Given the description of an element on the screen output the (x, y) to click on. 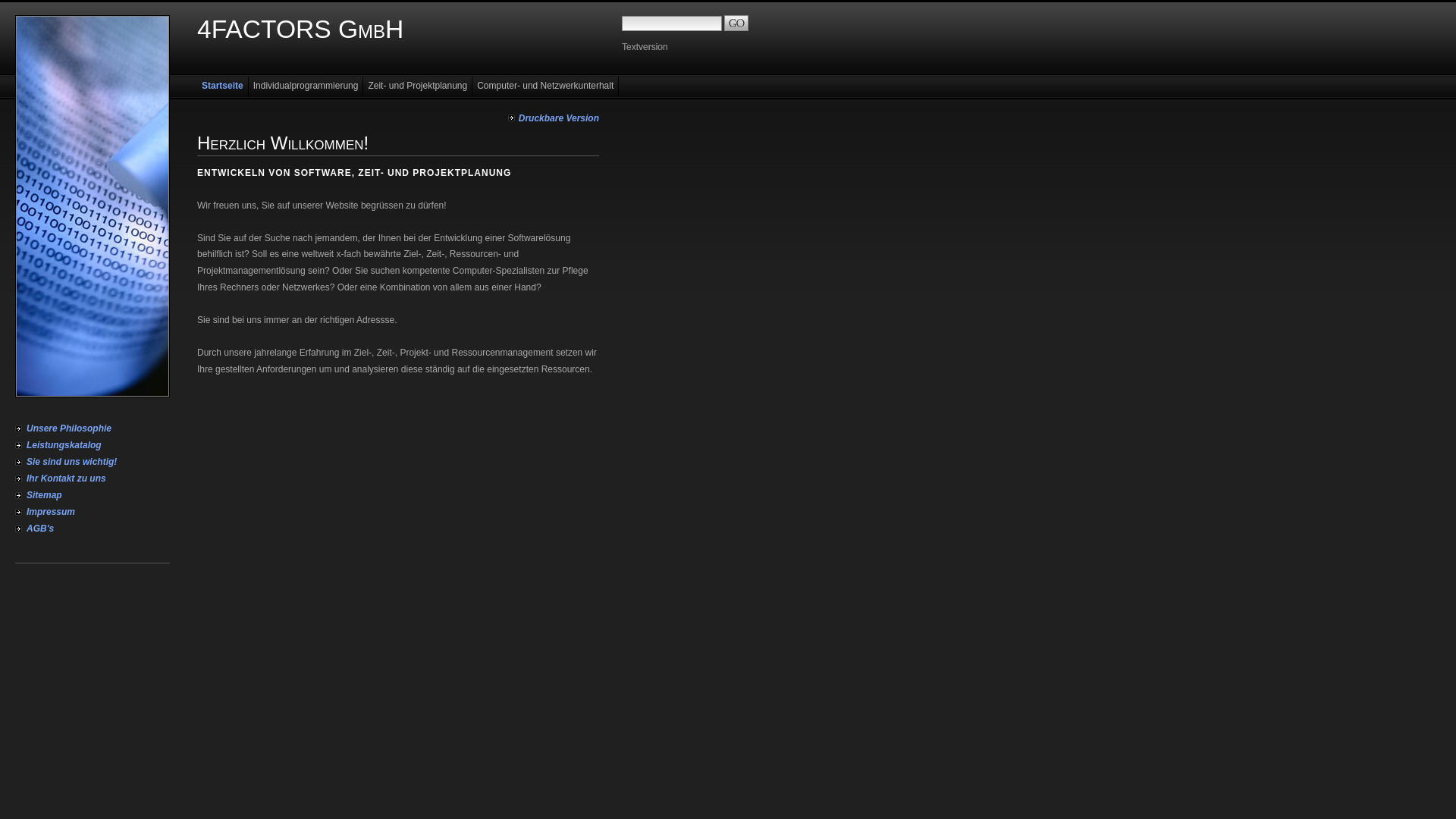
Ihr Kontakt zu uns Element type: text (92, 478)
Unsere Philosophie Element type: text (92, 428)
Startseite Element type: text (222, 86)
Textversion Element type: text (644, 46)
Sie sind uns wichtig! Element type: text (92, 461)
Computer- und Netzwerkunterhalt Element type: text (545, 86)
Individualprogrammierung Element type: text (306, 86)
Sitemap Element type: text (92, 494)
Zeit- und Projektplanung Element type: text (417, 86)
Impressum Element type: text (92, 511)
Druckbare Version Element type: text (553, 118)
Leistungskatalog Element type: text (92, 444)
AGB's Element type: text (92, 528)
